Given the description of an element on the screen output the (x, y) to click on. 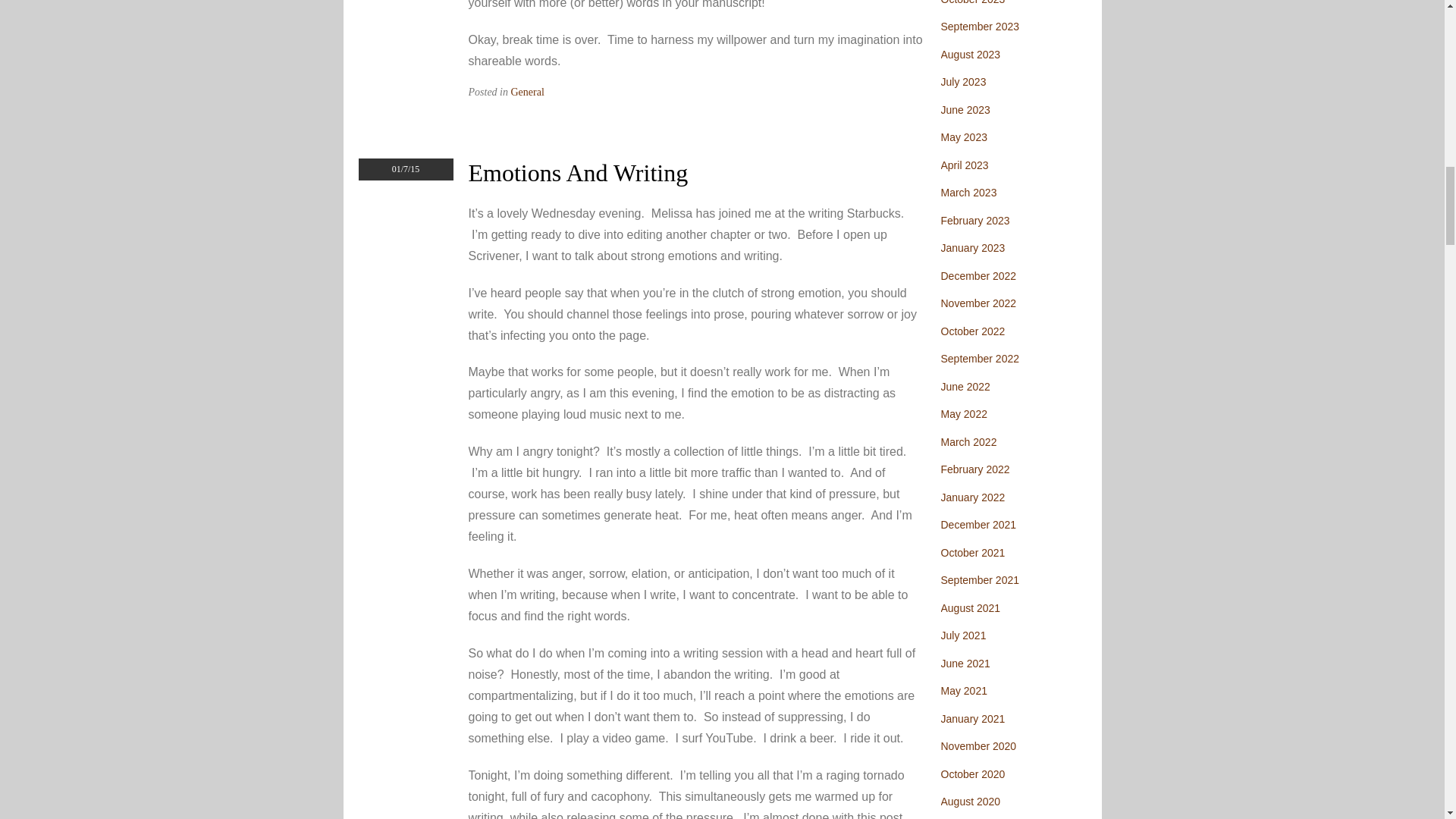
April 2023 (964, 164)
June 2023 (965, 110)
July 2023 (962, 81)
Emotions And Writing (578, 172)
August 2023 (970, 54)
May 2023 (963, 137)
October 2023 (972, 2)
September 2023 (979, 26)
Permalink to Emotions and Writing (578, 172)
General (527, 91)
